Given the description of an element on the screen output the (x, y) to click on. 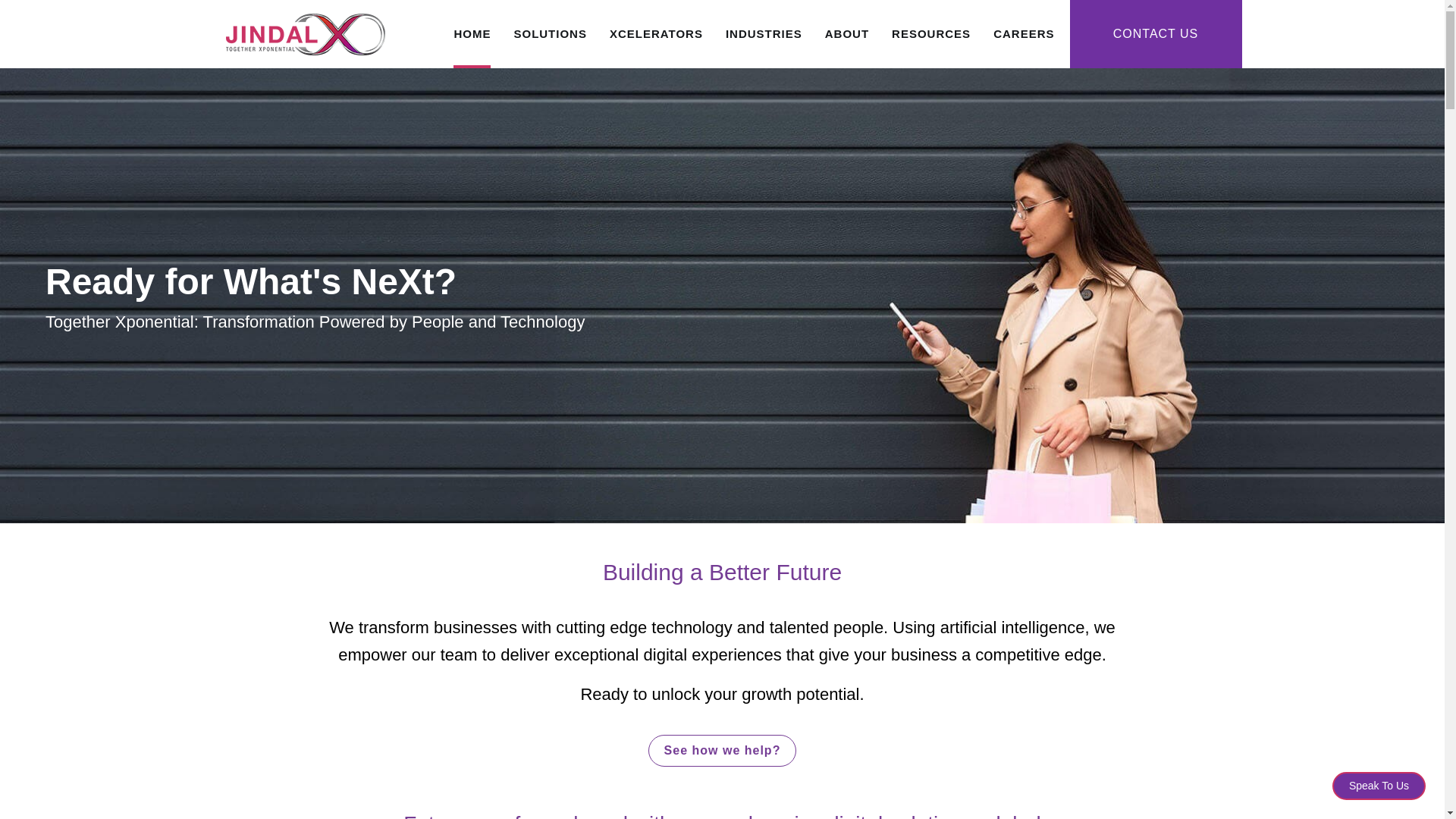
INDUSTRIES (763, 33)
SOLUTIONS (549, 33)
XCELERATORS (656, 33)
CAREERS (1023, 33)
RESOURCES (931, 33)
CONTACT US (1154, 33)
